Given the description of an element on the screen output the (x, y) to click on. 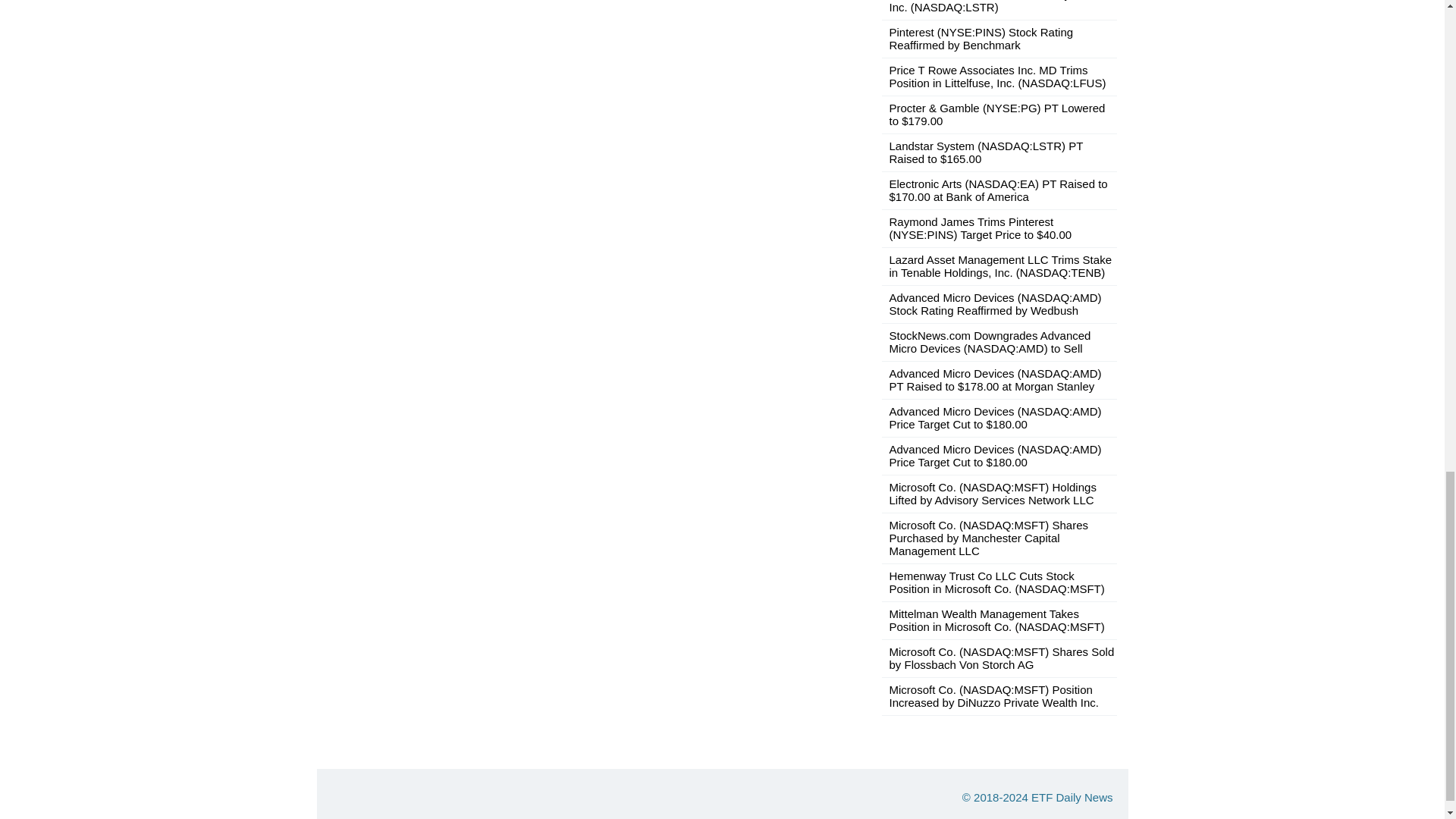
ETF Daily News (1071, 797)
